Given the description of an element on the screen output the (x, y) to click on. 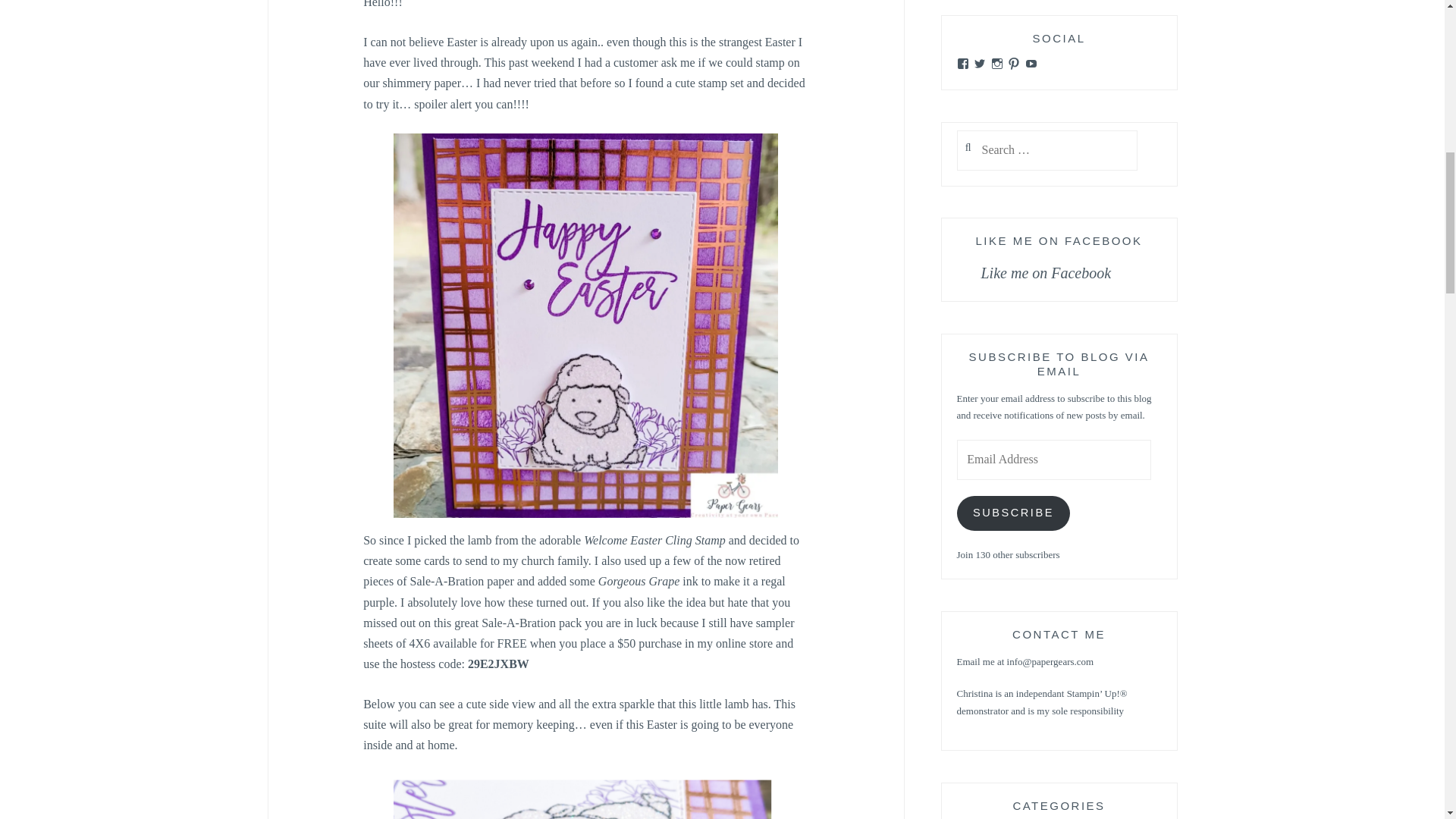
SUBSCRIBE (1013, 513)
Like me on Facebook (1046, 273)
LIKE ME ON FACEBOOK (1058, 241)
